Given the description of an element on the screen output the (x, y) to click on. 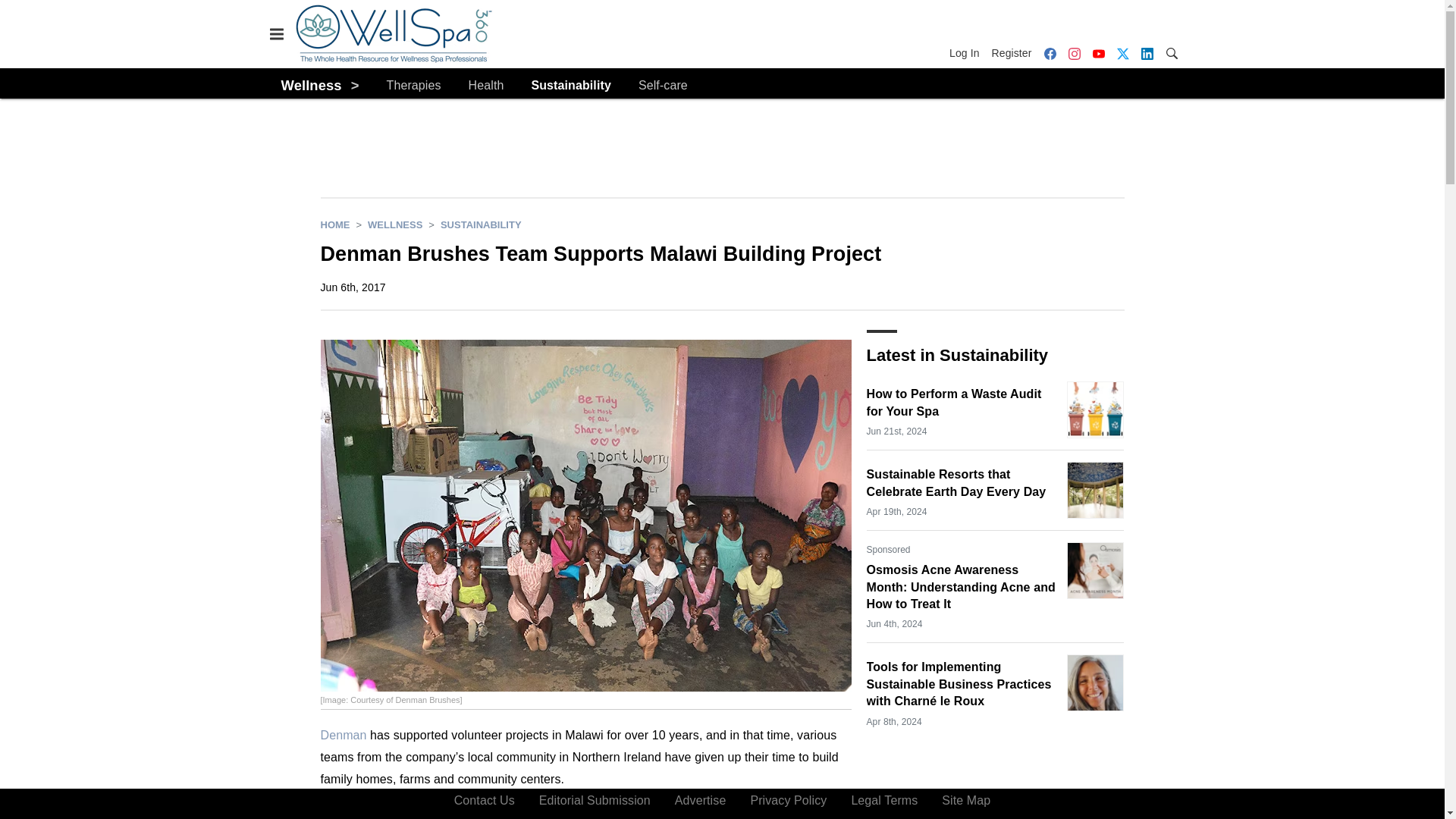
Sustainability (570, 85)
Sustainability (481, 224)
LinkedIn icon (1146, 53)
Instagram icon (1073, 53)
Sponsored (888, 549)
Instagram icon (1073, 53)
Twitter X icon (1122, 53)
Therapies (414, 85)
Twitter X icon (1121, 53)
Register (1011, 53)
YouTube icon (1097, 53)
Log In (967, 53)
Health (485, 85)
Self-care (663, 85)
LinkedIn icon (1146, 53)
